Given the description of an element on the screen output the (x, y) to click on. 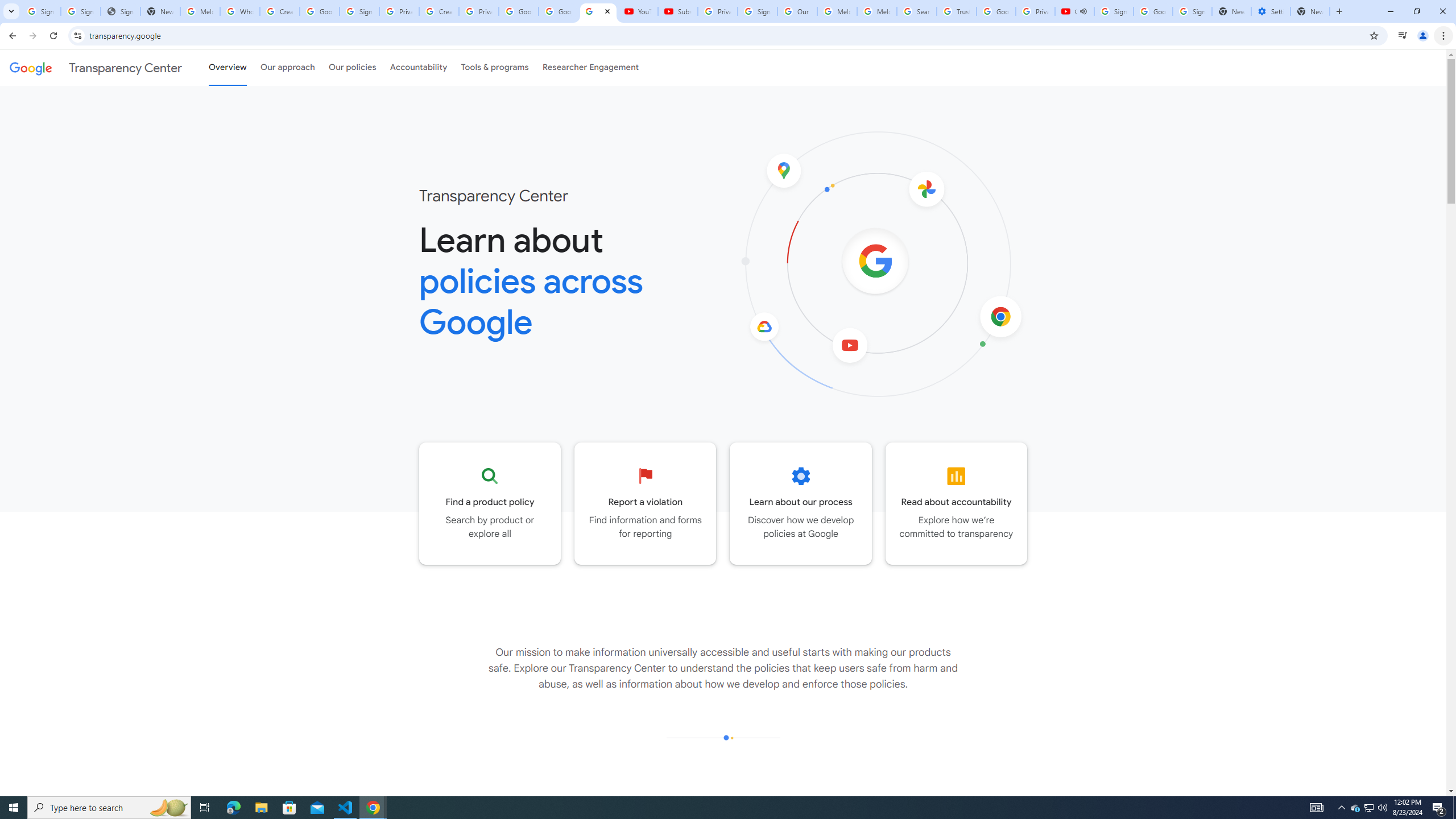
Sign in - Google Accounts (1192, 11)
Tools & programs (494, 67)
Go to the Our process page (800, 503)
Search our Doodle Library Collection - Google Doodles (916, 11)
Trusted Information and Content - Google Safety Center (956, 11)
Subscriptions - YouTube (677, 11)
